Given the description of an element on the screen output the (x, y) to click on. 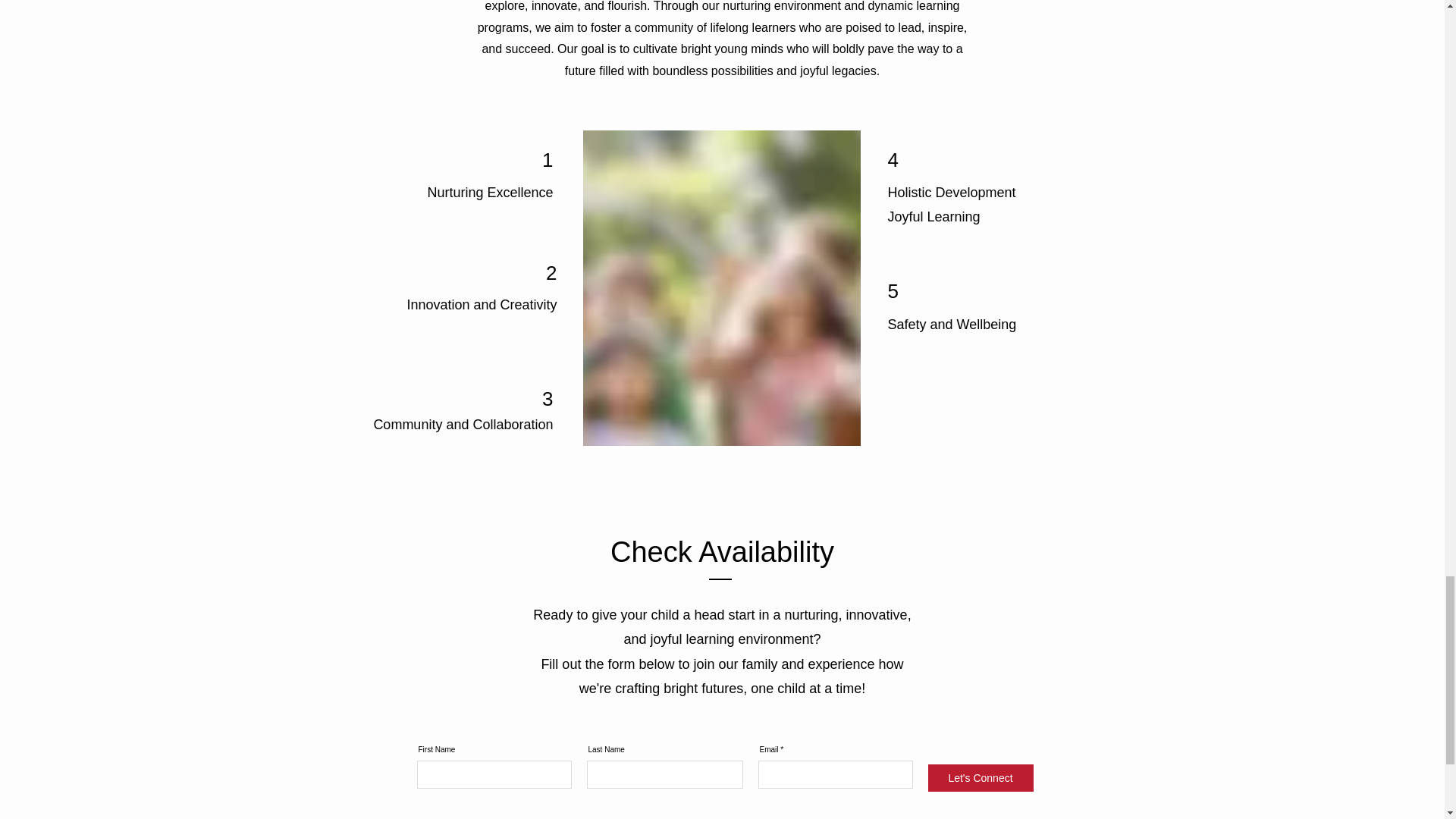
Let's Connect (980, 777)
